Given the description of an element on the screen output the (x, y) to click on. 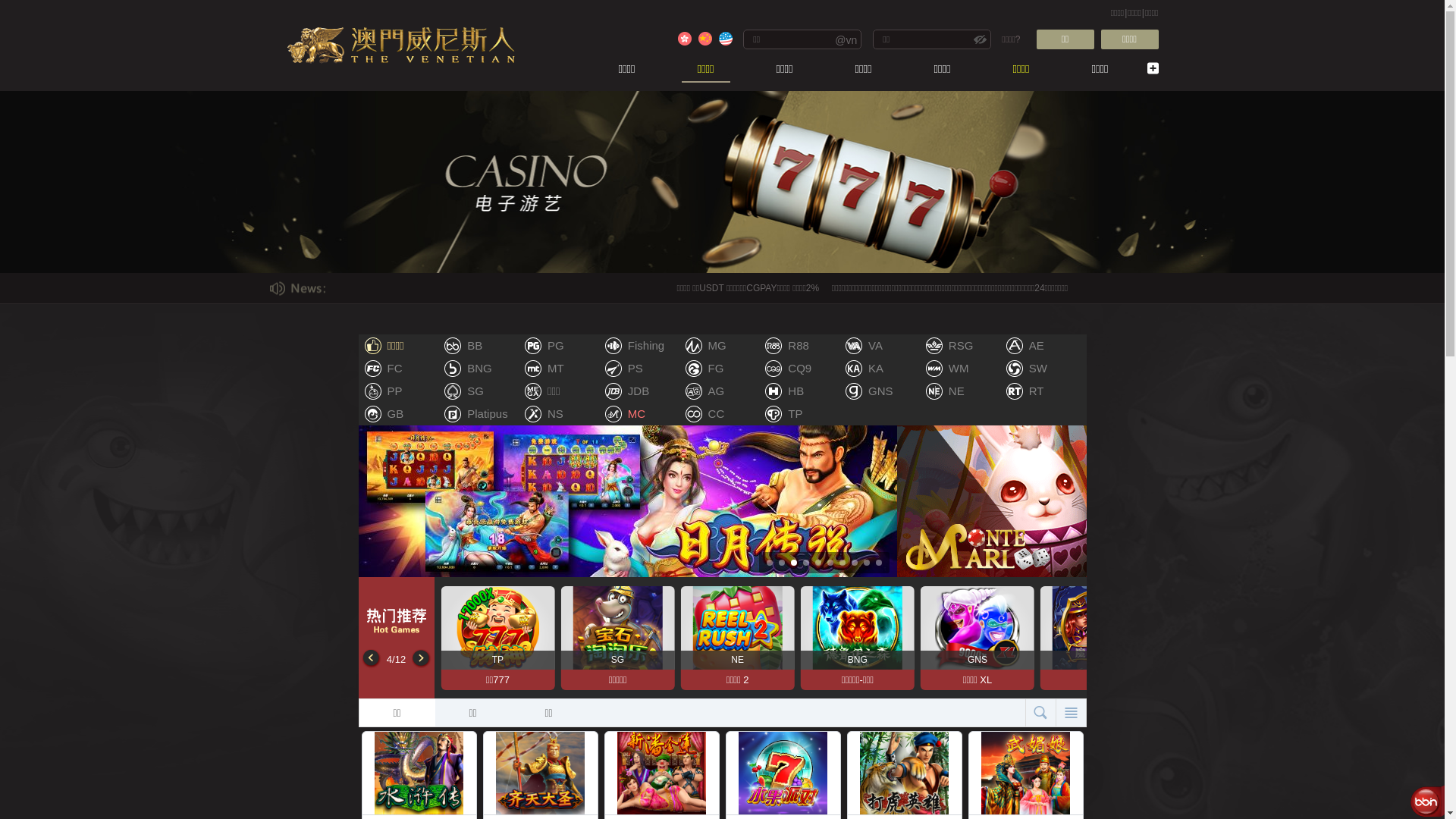
English Element type: hover (725, 38)
